Given the description of an element on the screen output the (x, y) to click on. 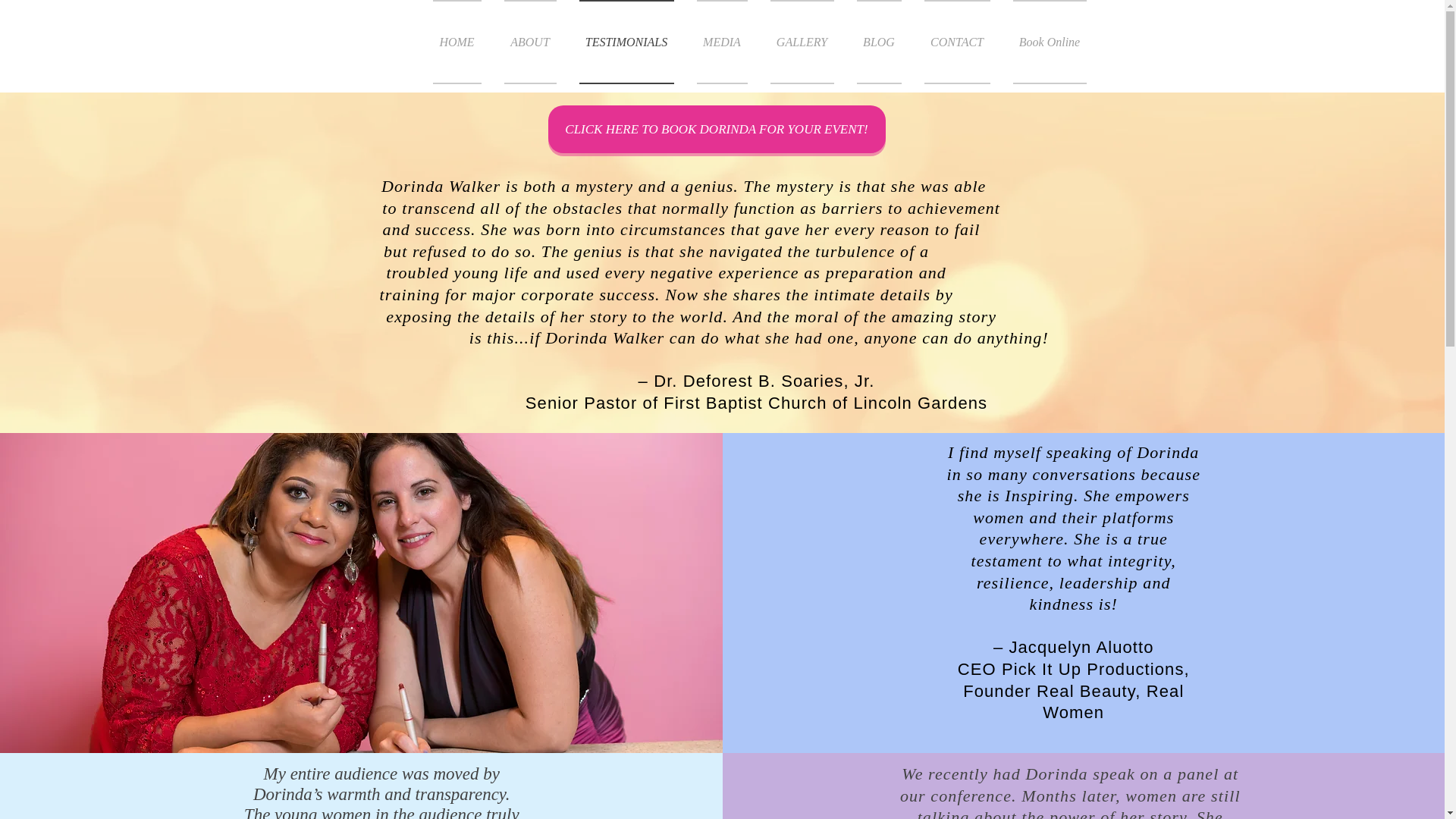
Book Online (1043, 42)
CLICK HERE TO BOOK DORINDA FOR YOUR EVENT! (716, 129)
MEDIA (721, 42)
CONTACT (956, 42)
BLOG (878, 42)
GALLERY (801, 42)
HOME (462, 42)
ABOUT (530, 42)
TESTIMONIALS (625, 42)
